Given the description of an element on the screen output the (x, y) to click on. 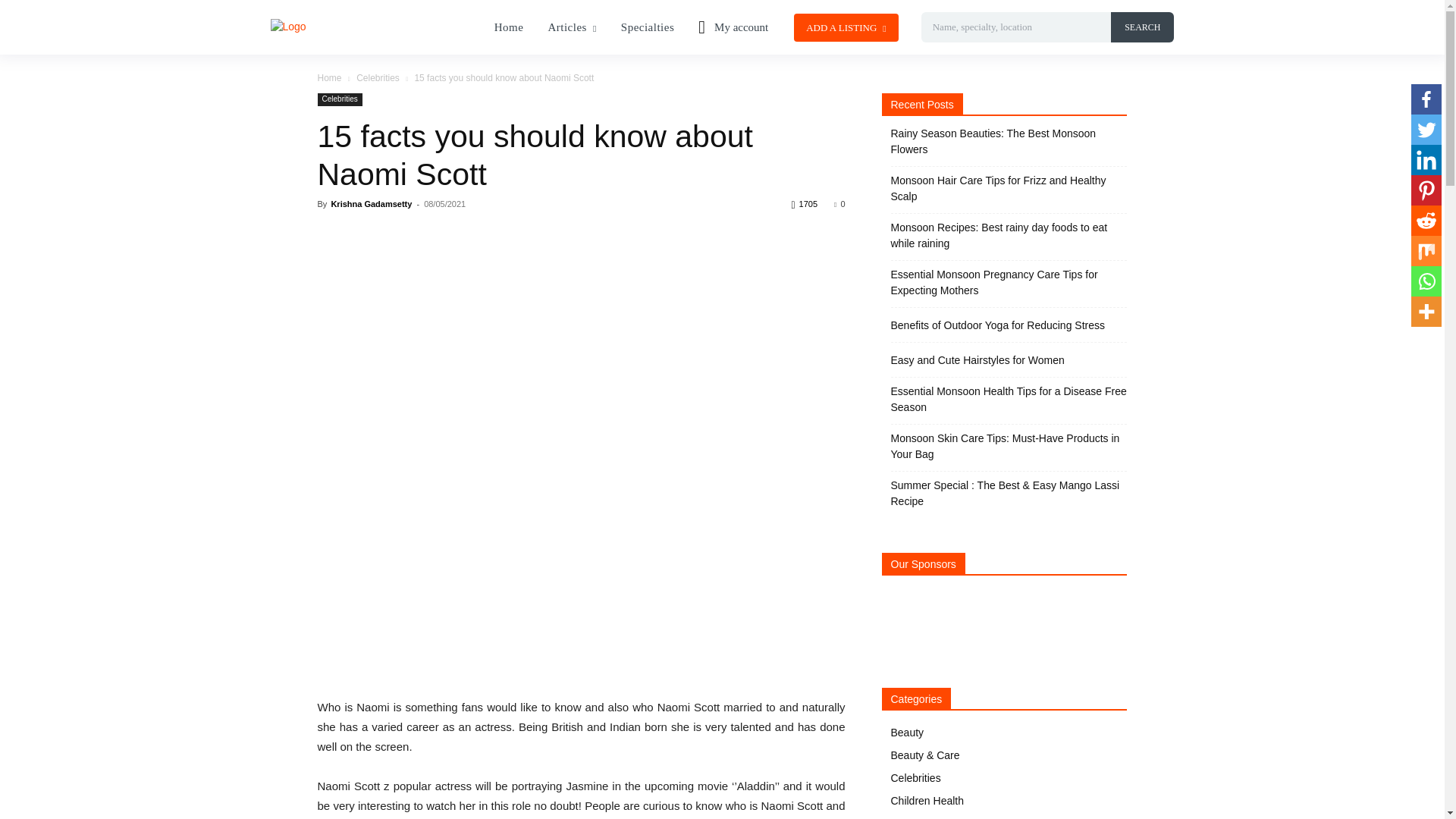
Home (508, 27)
View all posts in Celebrities (377, 77)
Articles (571, 27)
Add a listing (845, 27)
